Given the description of an element on the screen output the (x, y) to click on. 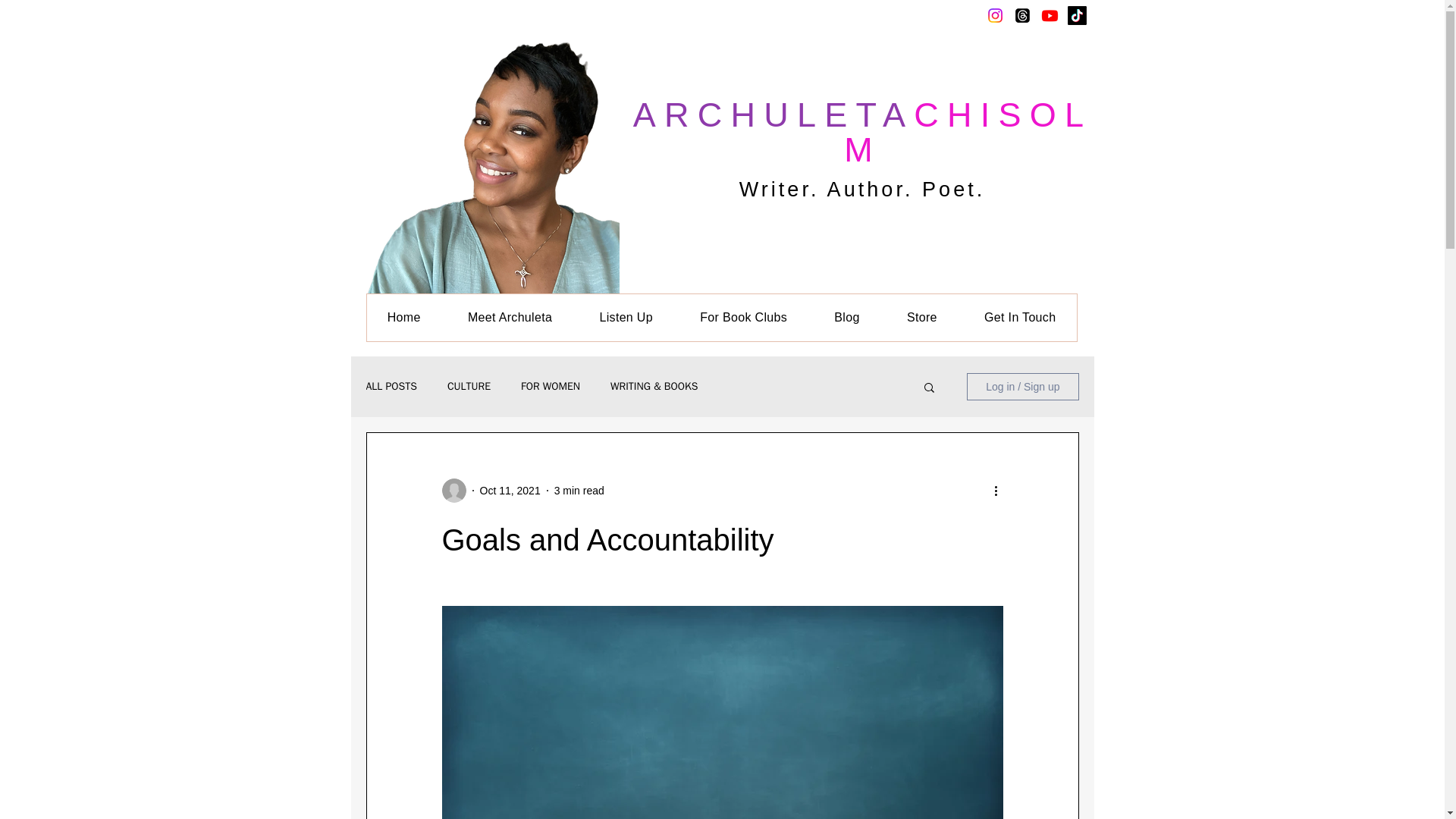
ALL POSTS (390, 386)
Store (922, 317)
FOR WOMEN (550, 386)
CULTURE (468, 386)
Listen Up (625, 317)
3 min read (579, 490)
Blog (846, 317)
Meet Archuleta (509, 317)
Oct 11, 2021 (509, 490)
Home (403, 317)
For Book Clubs (743, 317)
Get In Touch (1020, 317)
